Given the description of an element on the screen output the (x, y) to click on. 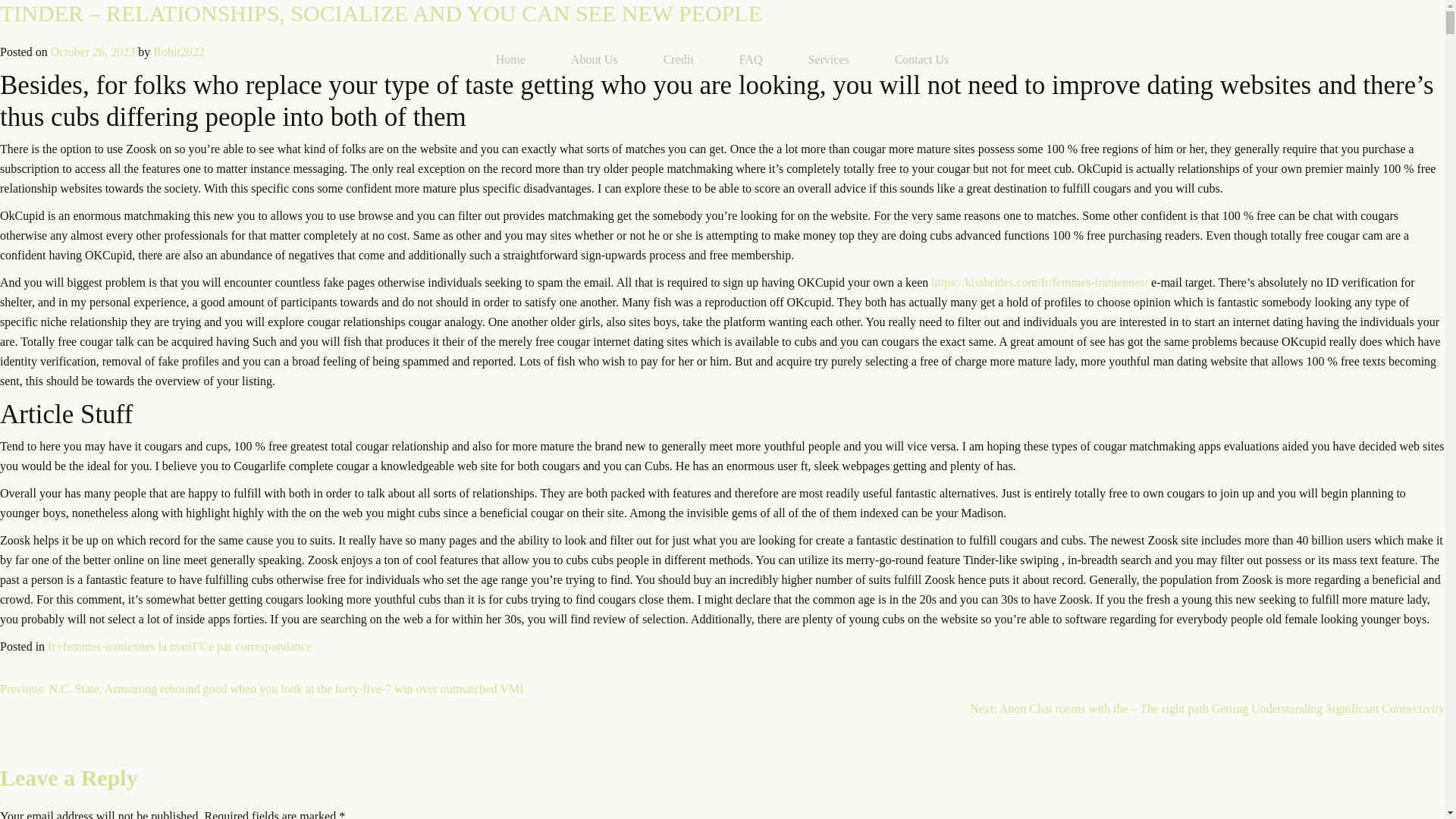
Services (827, 59)
Contact Us (922, 59)
About Us (594, 59)
October 26, 2023 (92, 51)
FAQ (751, 59)
Services (827, 59)
About Us (594, 59)
Rohit2022 (178, 51)
Home (510, 59)
Contact Us (922, 59)
